Given the description of an element on the screen output the (x, y) to click on. 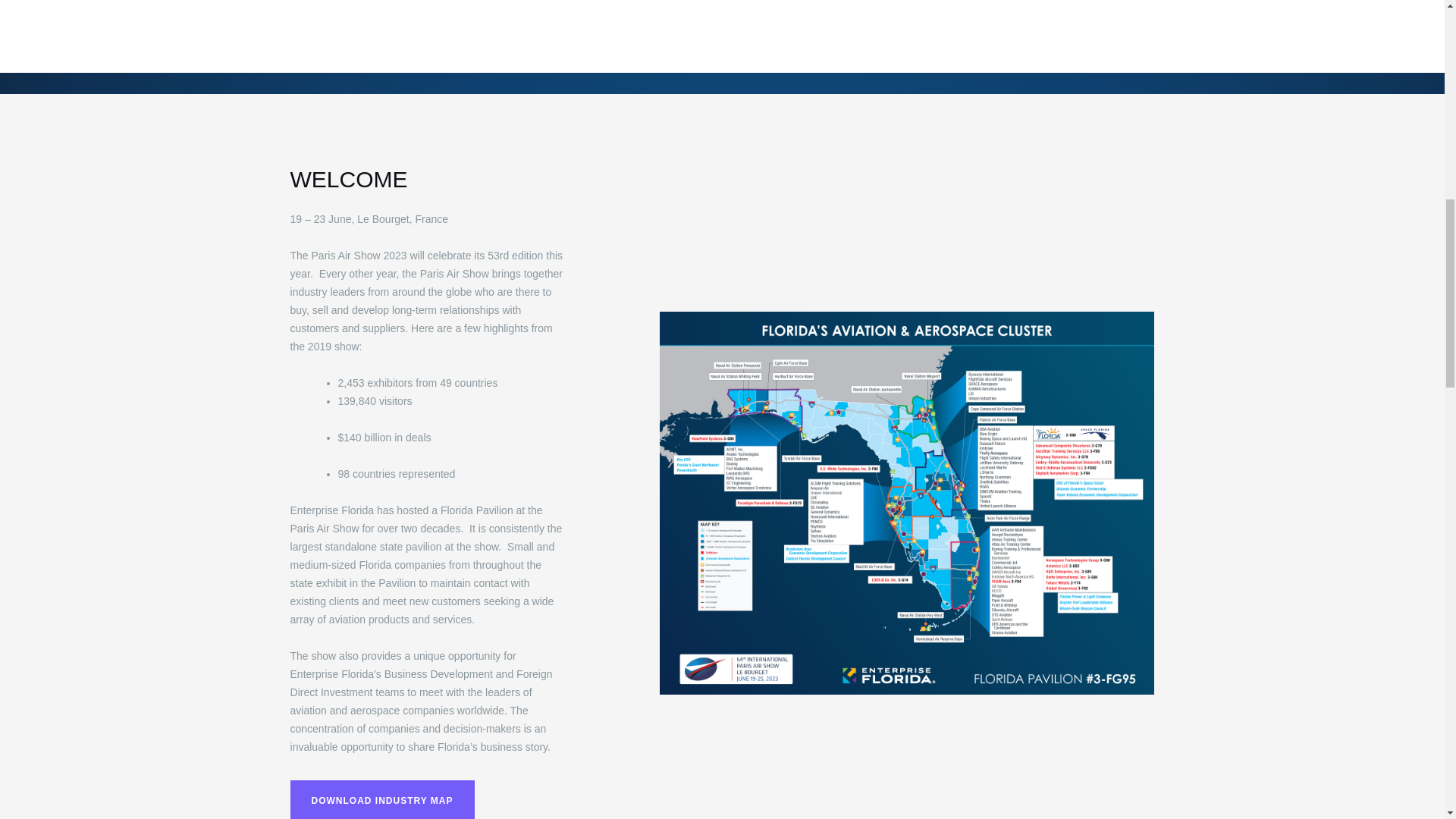
DOWNLOAD INDUSTRY MAP (381, 799)
